Given the description of an element on the screen output the (x, y) to click on. 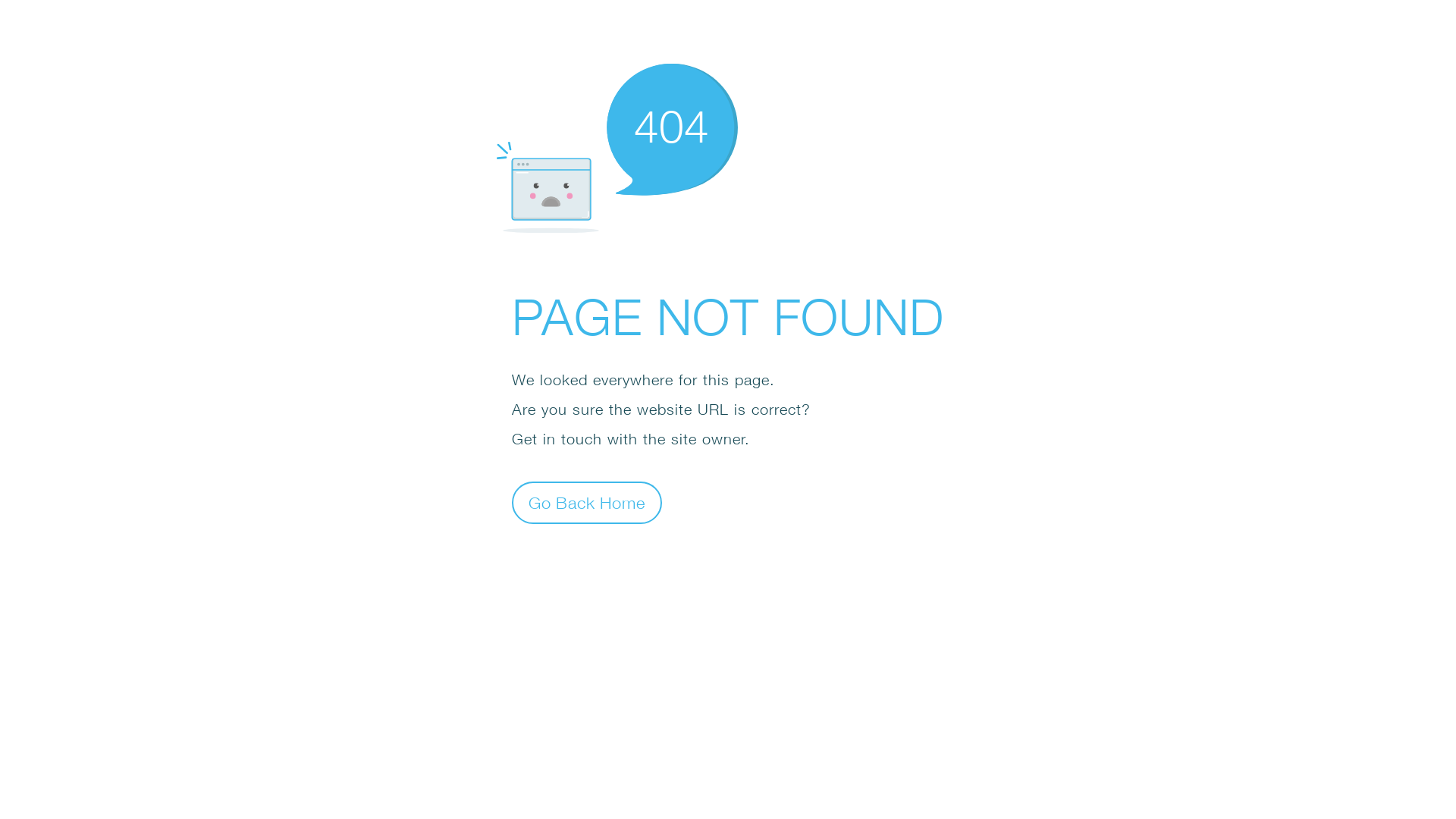
Go Back Home Element type: text (586, 502)
